Given the description of an element on the screen output the (x, y) to click on. 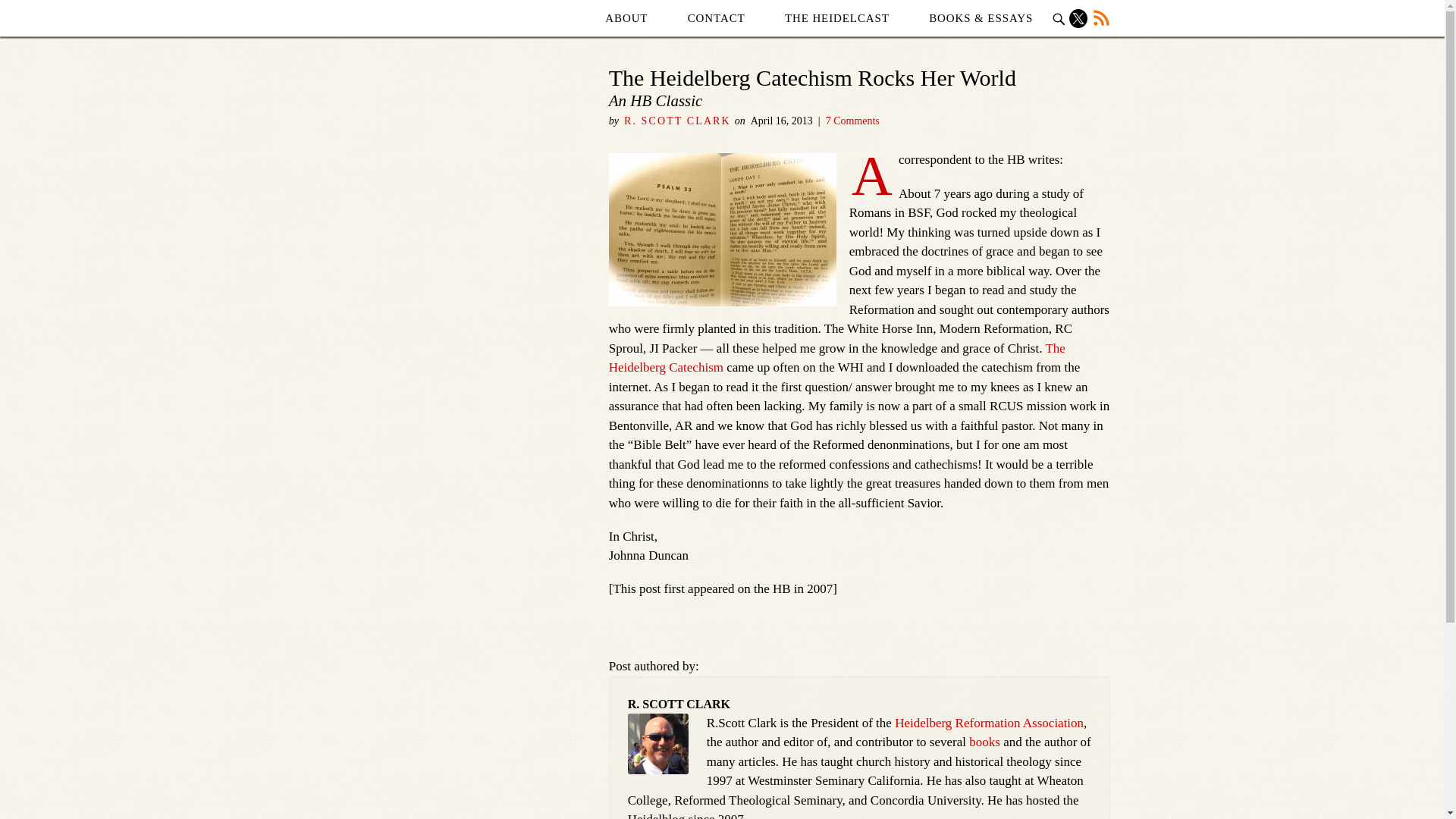
Heidelberg Reformation Association (989, 722)
Contact (715, 18)
The Heidelcast (837, 18)
THE HEIDELCAST (837, 18)
R. SCOTT CLARK (677, 120)
books (984, 741)
7 Comments (852, 120)
ABOUT (625, 18)
